Given the description of an element on the screen output the (x, y) to click on. 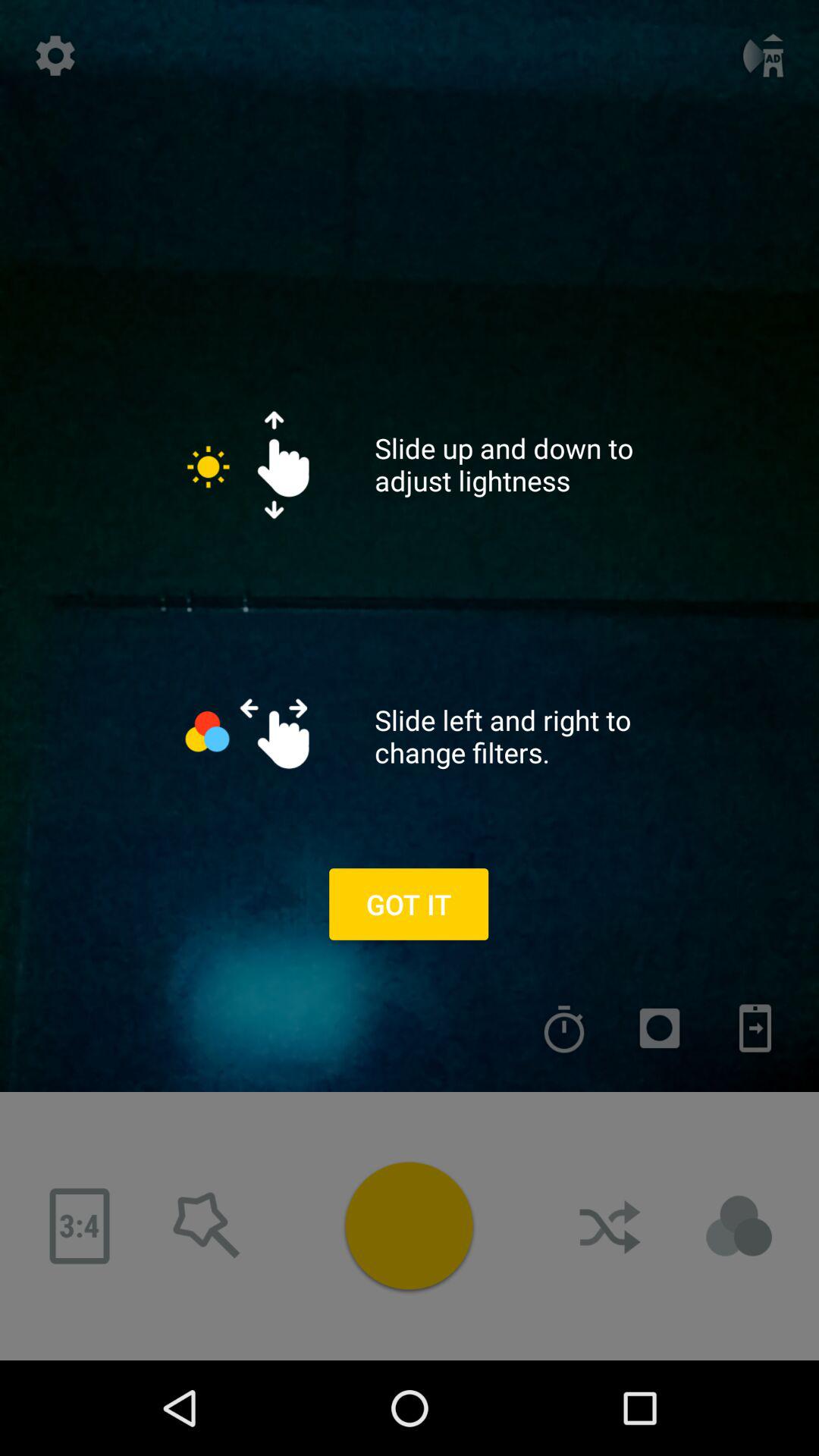
share this page (611, 1226)
